Given the description of an element on the screen output the (x, y) to click on. 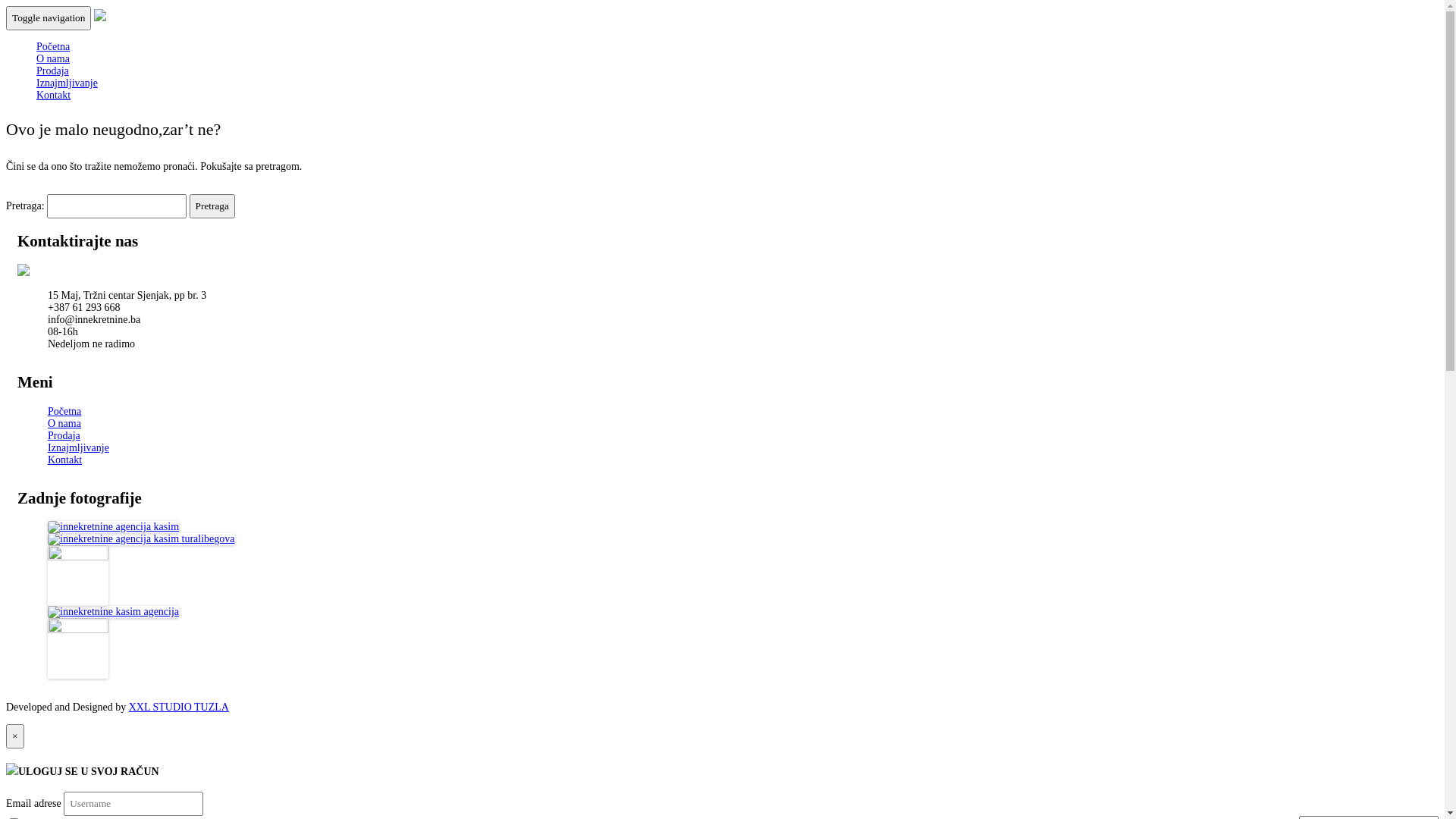
Prodaja Element type: text (63, 435)
Iznajmljivanje Element type: text (78, 447)
Kontakt Element type: text (53, 94)
Pretraga Element type: text (212, 206)
Prodaja Element type: text (52, 70)
Iznajmljivanje Element type: text (66, 82)
O nama Element type: text (52, 58)
Kontakt Element type: text (64, 459)
O nama Element type: text (64, 423)
Toggle navigation Element type: text (48, 18)
XXL STUDIO TUZLA Element type: text (178, 706)
